Given the description of an element on the screen output the (x, y) to click on. 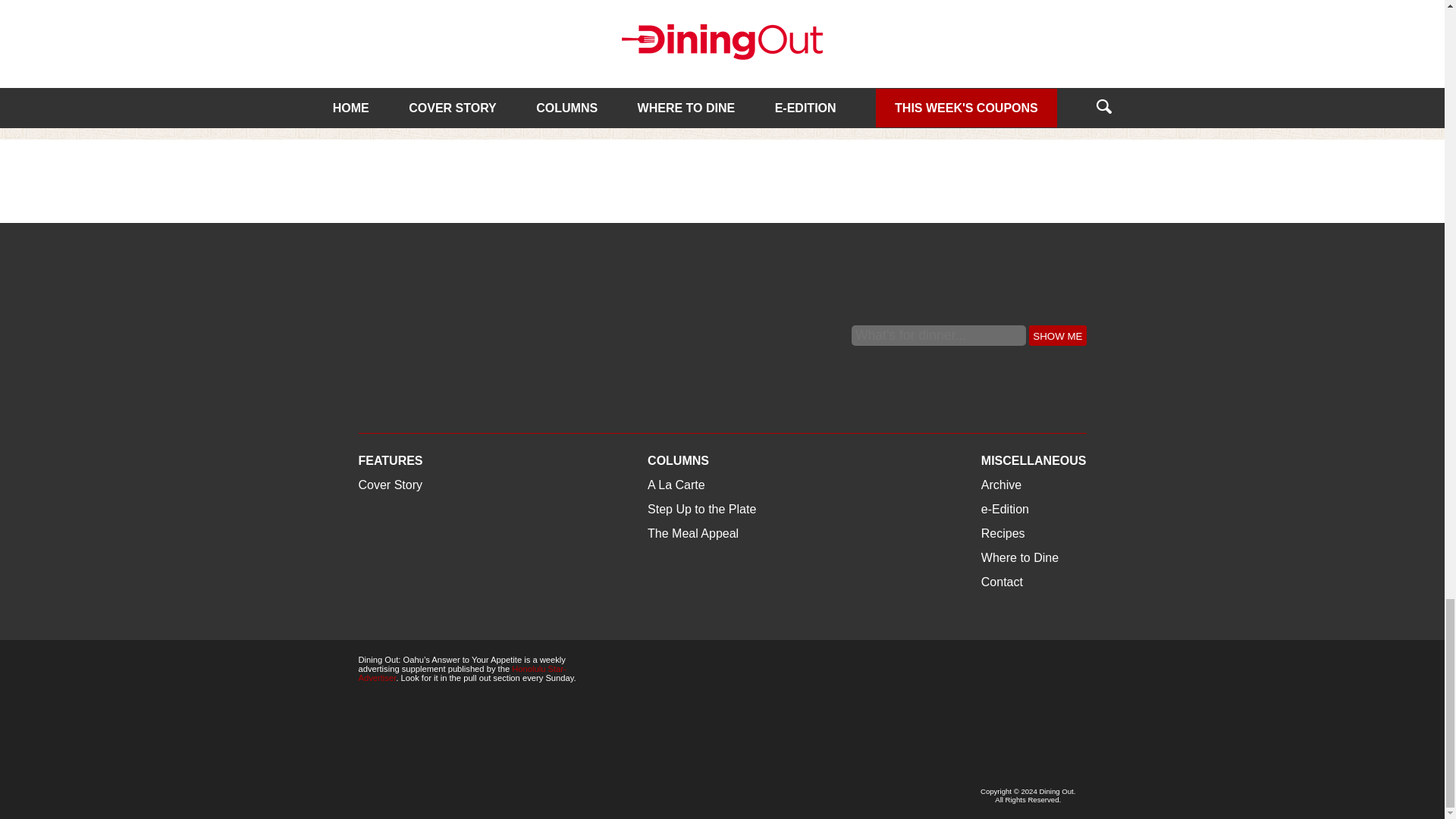
Cover Story (898, 38)
Indulge in a memorable meal (722, 24)
A La Carte (386, 38)
A La Carte (386, 38)
Local company highlights ono ulu (453, 73)
Local company highlights ono ulu (453, 73)
Sizzling Summer Skewers (976, 24)
Local company highlights ono ulu (468, 24)
A La Carte (640, 38)
A La Carte (640, 38)
Indulge in a memorable meal (718, 62)
Indulge in a memorable meal (718, 62)
